Given the description of an element on the screen output the (x, y) to click on. 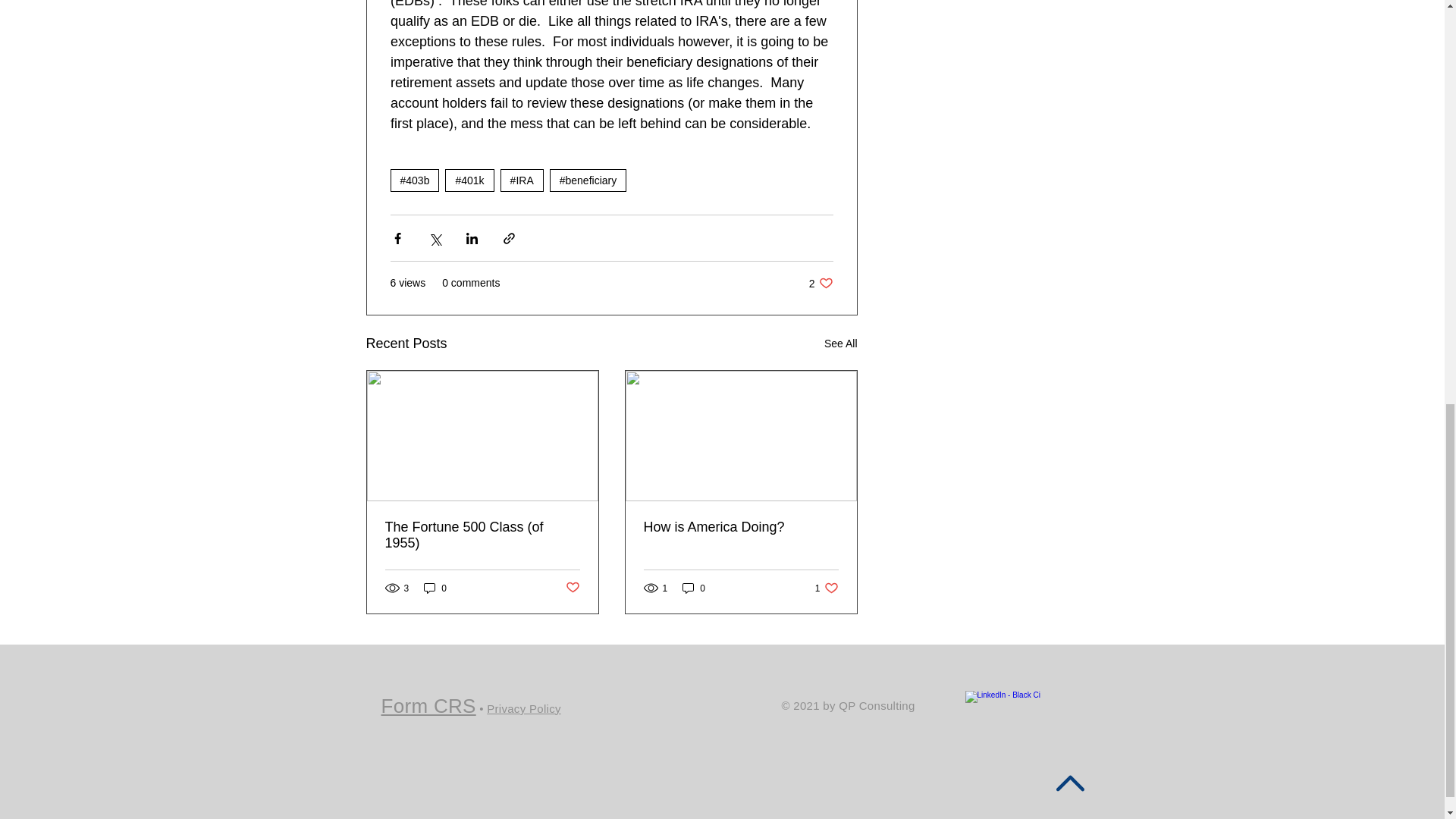
0 (693, 587)
See All (840, 343)
How is America Doing? (740, 527)
Post not marked as liked (572, 587)
Privacy Policy (523, 707)
Form CRS (820, 283)
0 (428, 705)
